Given the description of an element on the screen output the (x, y) to click on. 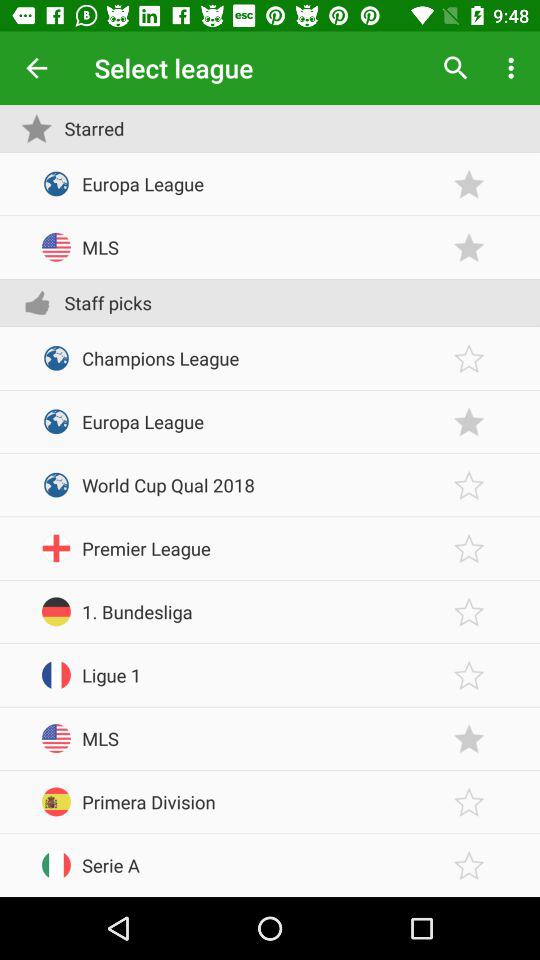
add to favorites (469, 738)
